Given the description of an element on the screen output the (x, y) to click on. 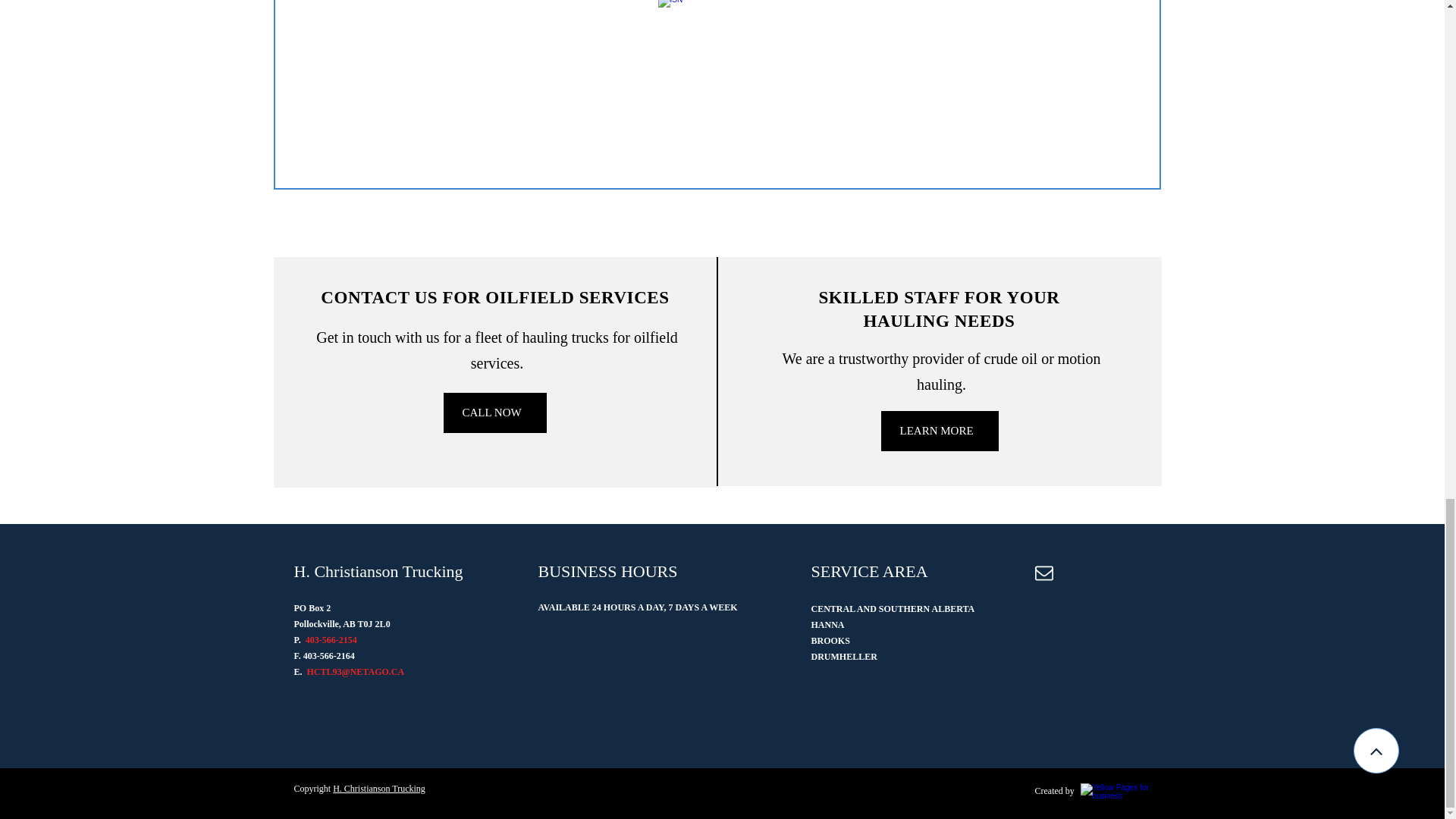
H. Christianson Trucking (379, 787)
DRUMHELLER (843, 656)
CALL NOW (494, 413)
403-566-2154 (330, 640)
LEARN MORE (939, 431)
